Given the description of an element on the screen output the (x, y) to click on. 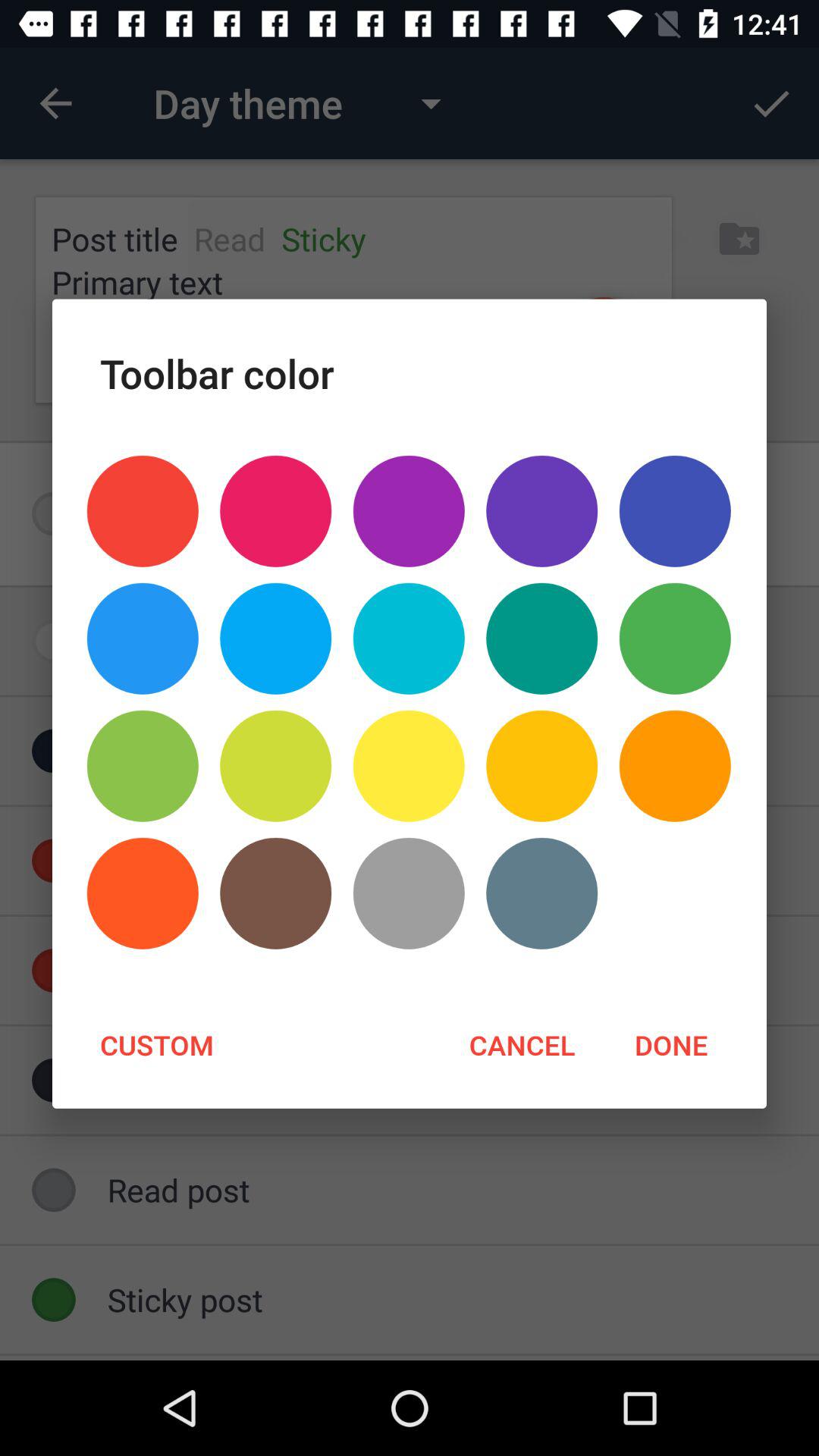
turn on the icon next to cancel icon (156, 1044)
